Given the description of an element on the screen output the (x, y) to click on. 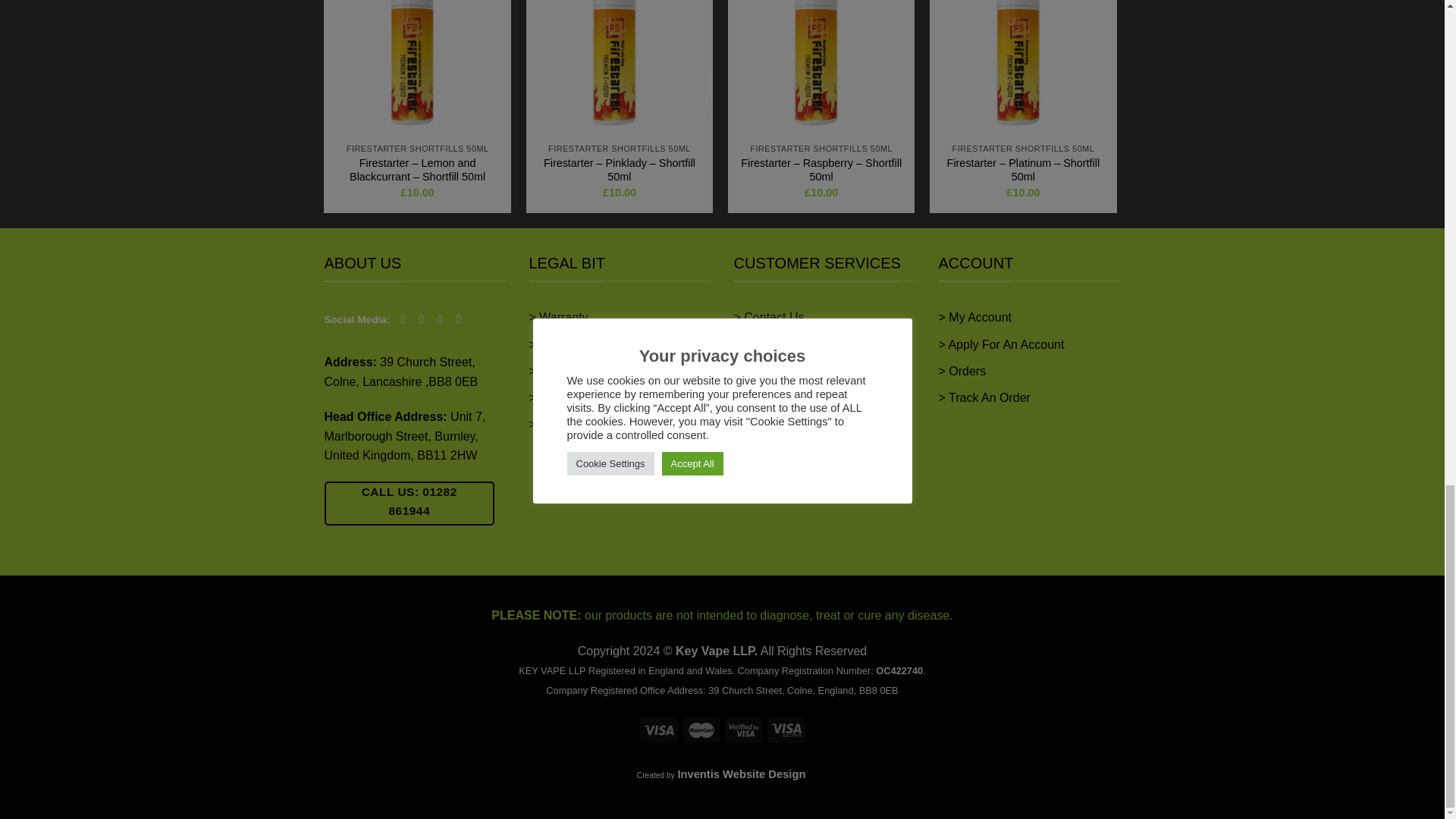
Follow on Facebook (406, 318)
